Given the description of an element on the screen output the (x, y) to click on. 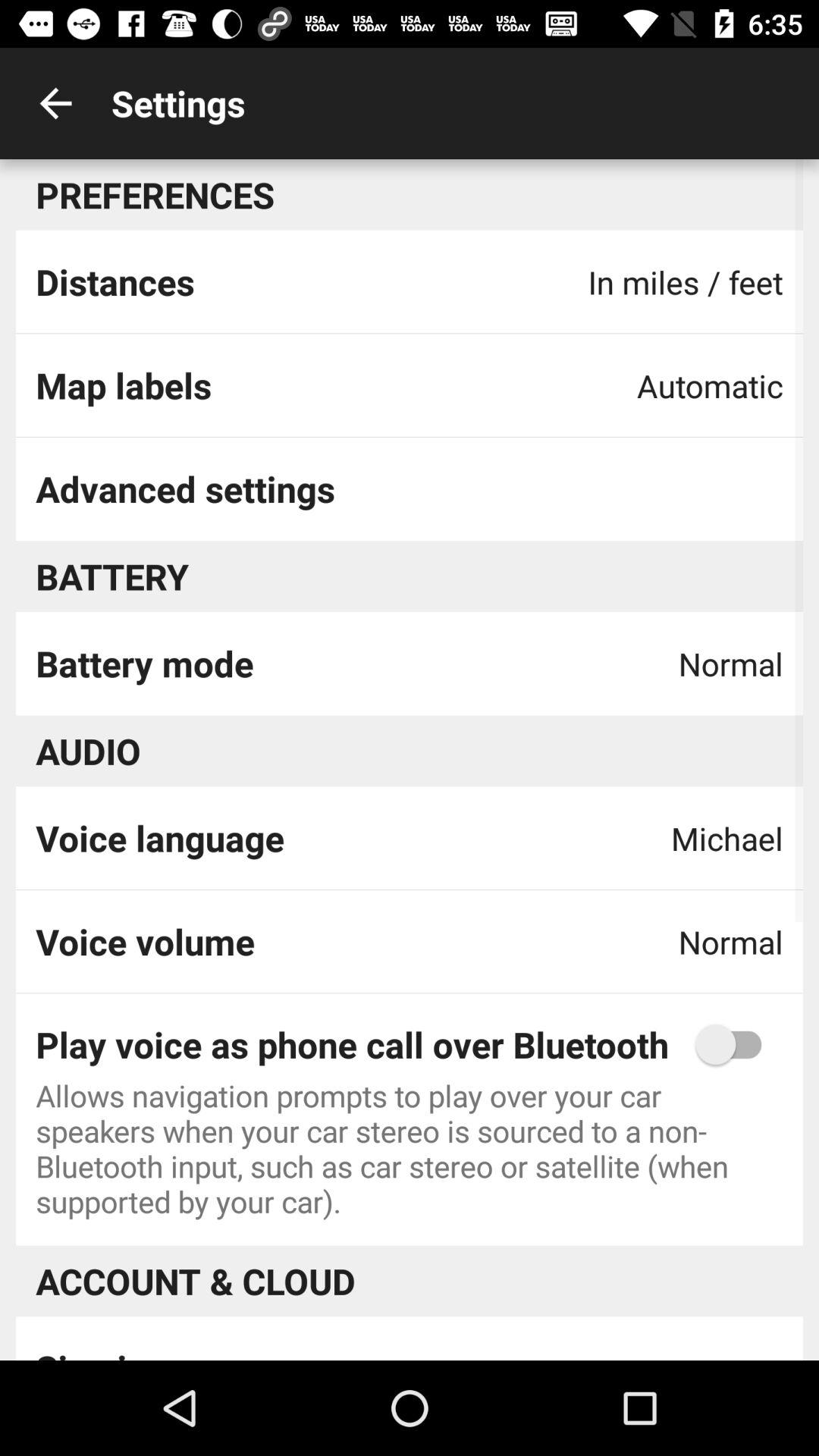
choose the item below battery mode (88, 750)
